Given the description of an element on the screen output the (x, y) to click on. 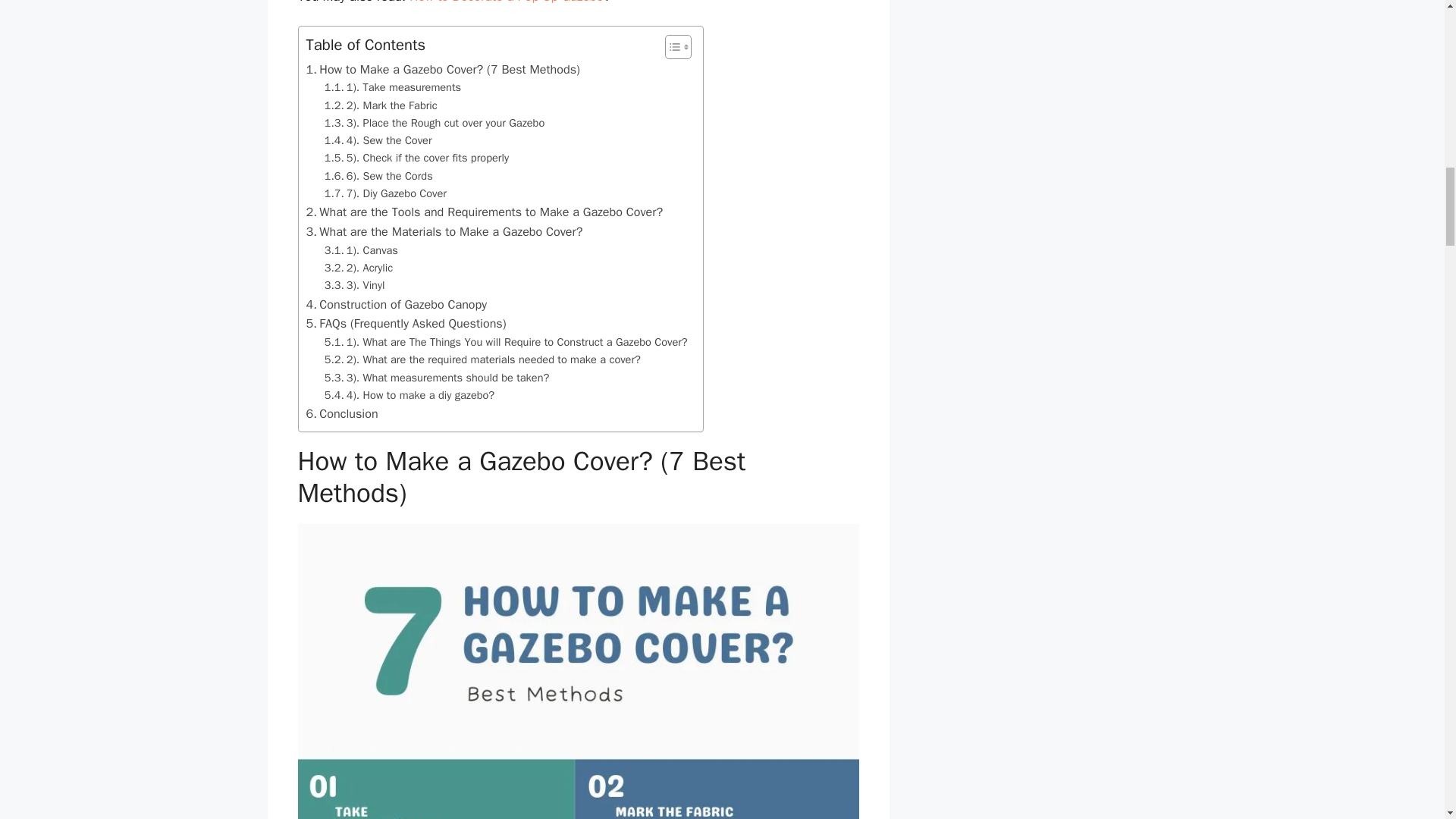
What are the Tools and Requirements to Make a Gazebo Cover? (484, 211)
Construction of Gazebo Canopy (396, 304)
How to Decorate a Pop-Up Gazebo (506, 2)
What are the Materials to Make a Gazebo Cover? (444, 231)
Conclusion (341, 414)
